Given the description of an element on the screen output the (x, y) to click on. 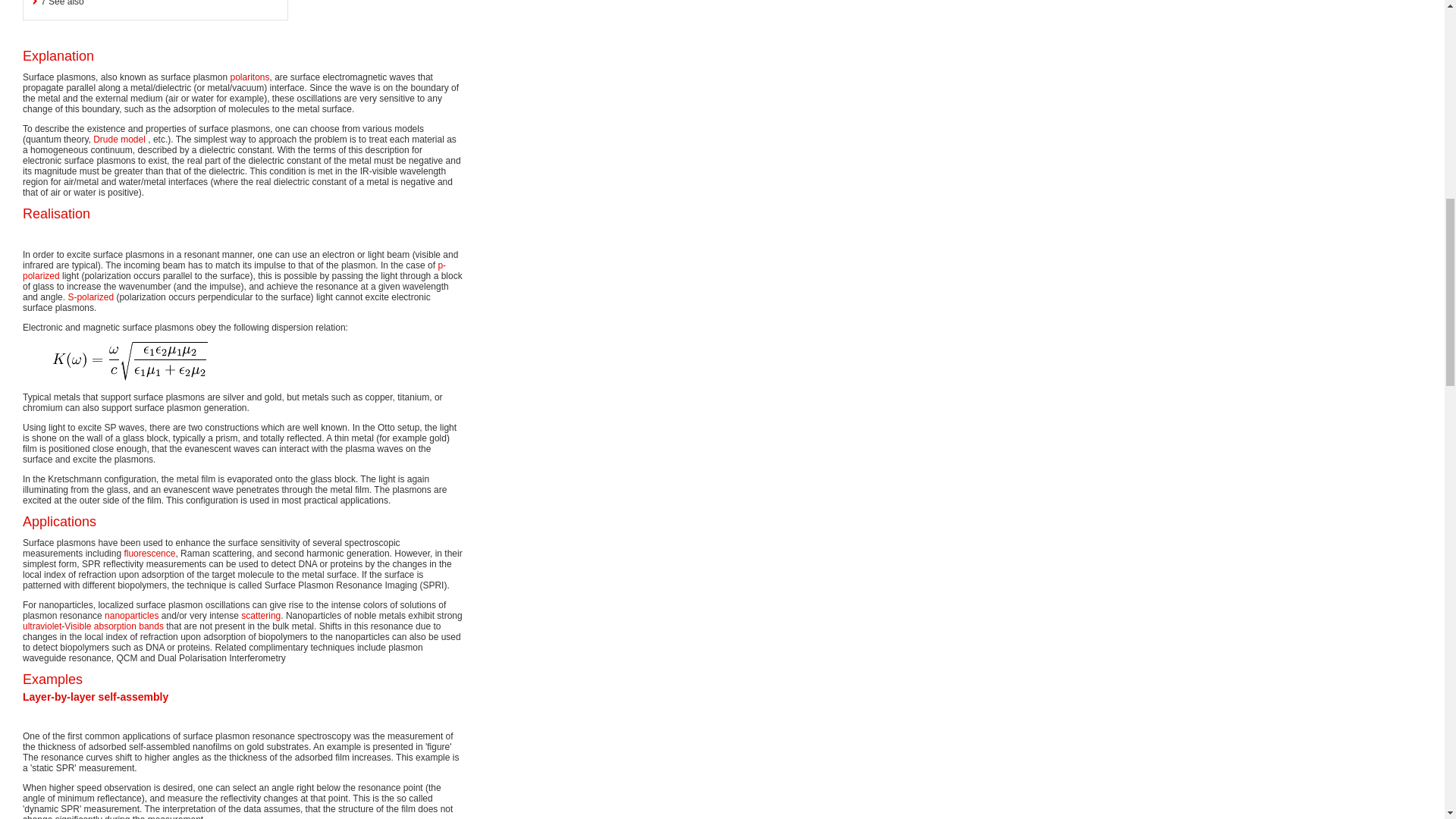
Ultraviolet (42, 625)
Fluorescence (148, 552)
Polariton (249, 77)
Polarization (234, 270)
Drude model (119, 139)
Nanoparticle (131, 615)
Scattering (261, 615)
Polarization (89, 296)
Visible light (77, 625)
